Given the description of an element on the screen output the (x, y) to click on. 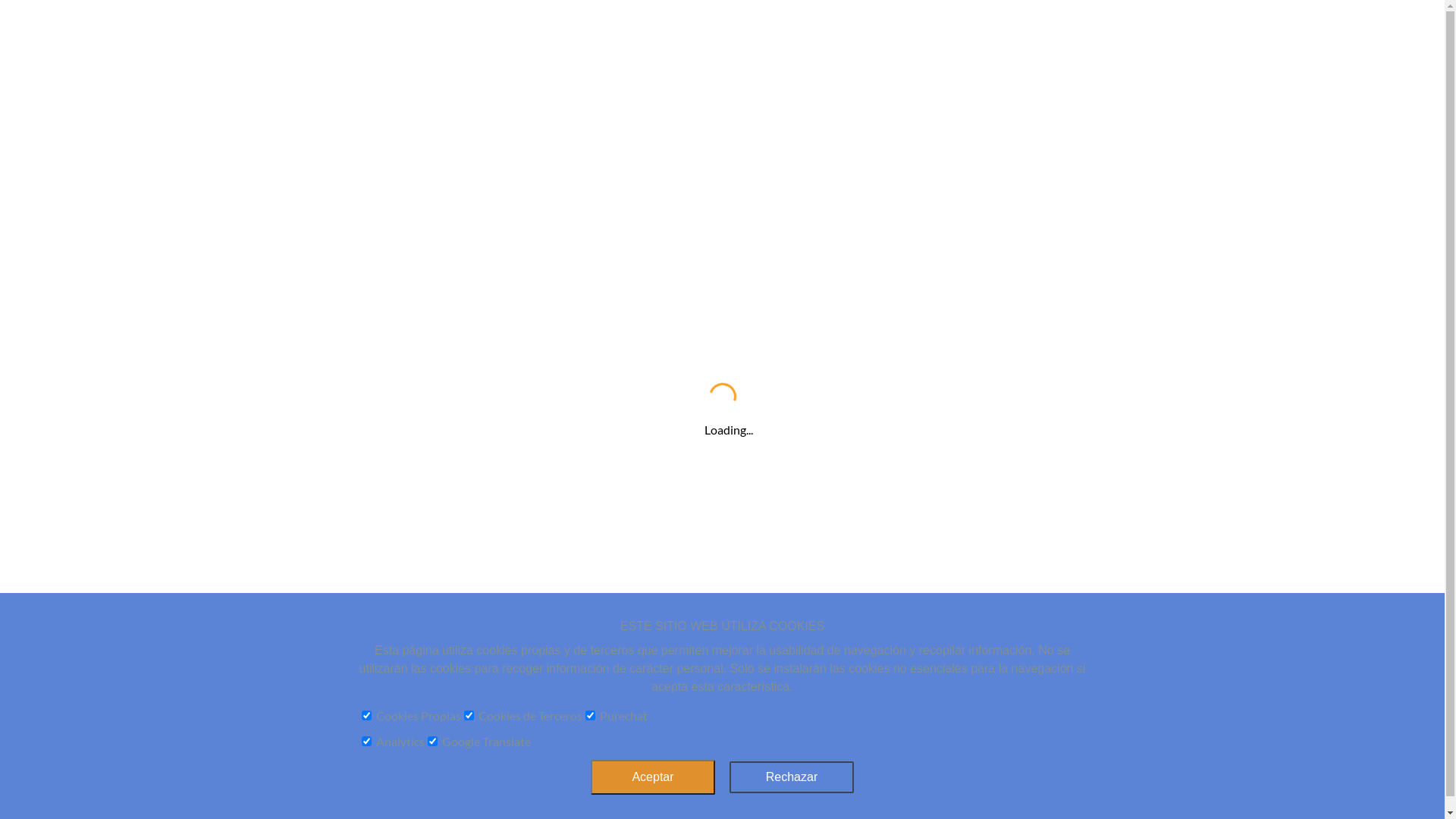
Aceptar Element type: text (652, 776)
  info@1976viajes.com Element type: text (970, 375)
chkCookiePropias Element type: hover (365, 715)
Rechazar Element type: text (791, 777)
chkCookiePure Element type: hover (590, 715)
SOBRE NOSOTROS Element type: text (351, 437)
facebook Element type: hover (372, 403)
  868680032 Element type: text (970, 347)
whatsapp Element type: hover (503, 403)
instagram Element type: hover (405, 403)
chkCookieTrad Element type: hover (432, 741)
telegram Element type: hover (437, 403)
   Element type: text (1429, 803)
chkCookieAnalitics Element type: hover (365, 741)
linkedin Element type: hover (535, 403)
chkCookieTerceros Element type: hover (468, 715)
twitter Element type: hover (470, 403)
Condiciones Generales de Reserva Element type: text (740, 422)
